Given the description of an element on the screen output the (x, y) to click on. 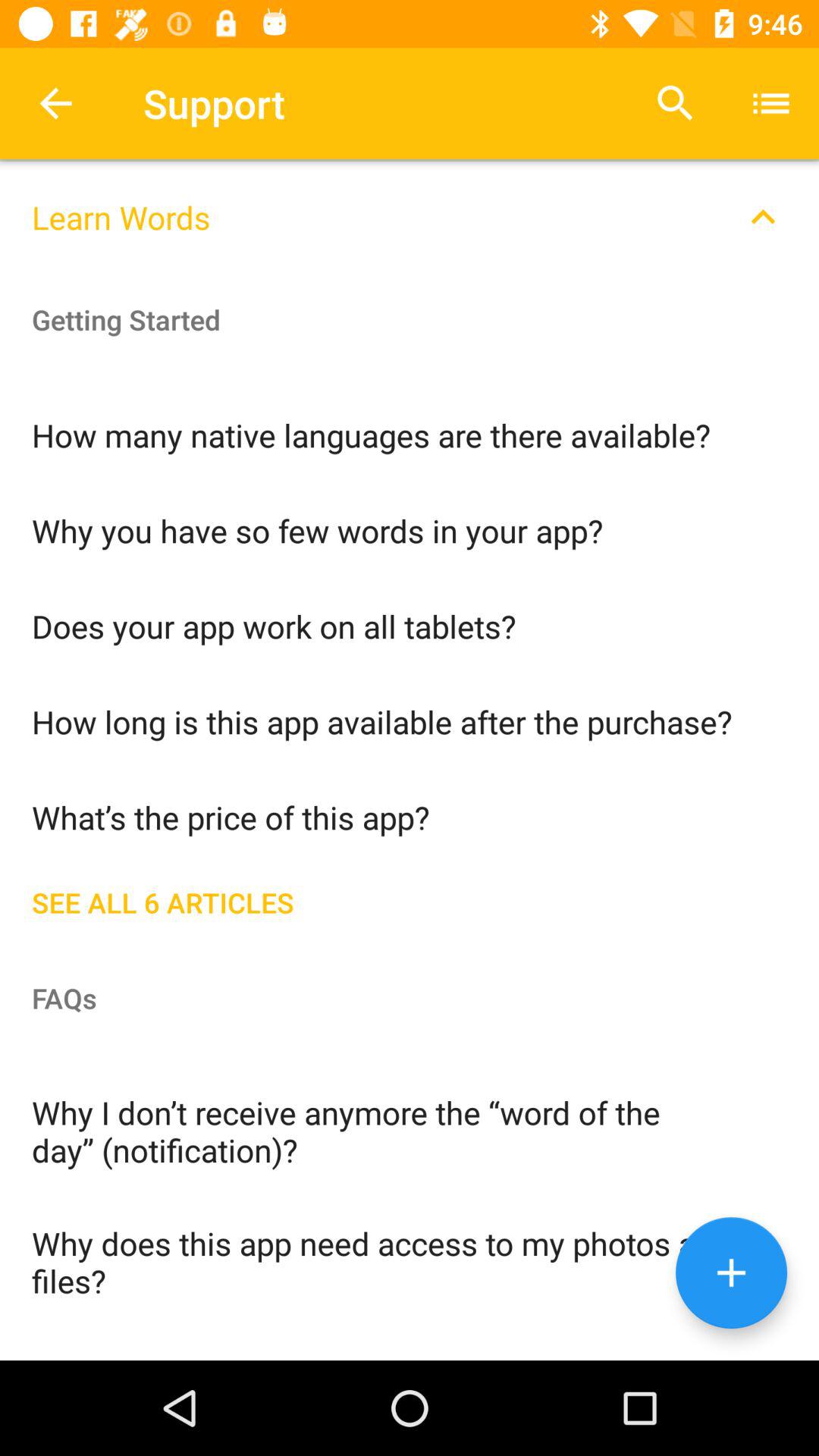
turn on the how long is icon (409, 720)
